Given the description of an element on the screen output the (x, y) to click on. 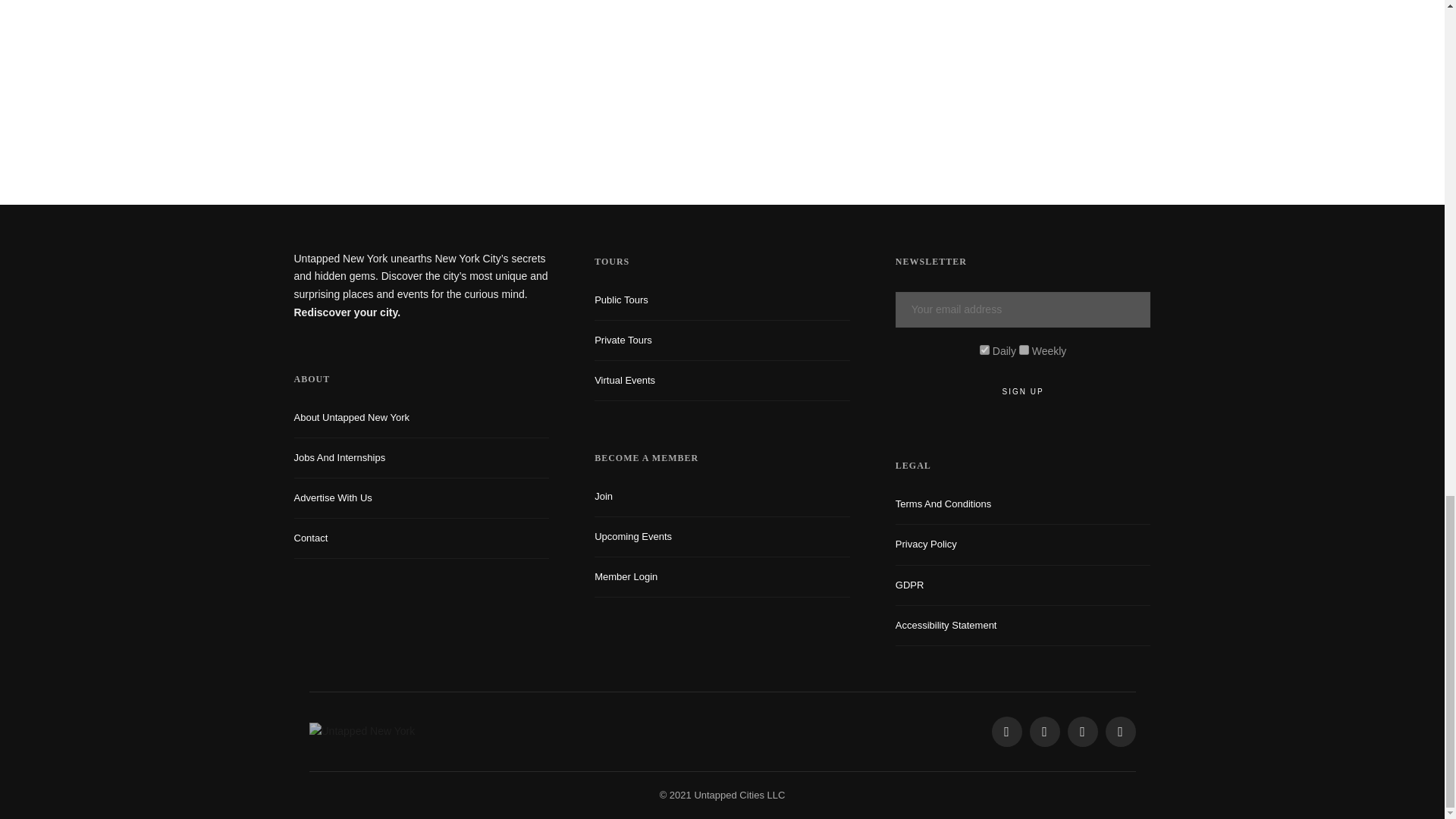
e99a09560c (984, 349)
Sign up (1023, 391)
7cff6a70fd (1024, 349)
